Given the description of an element on the screen output the (x, y) to click on. 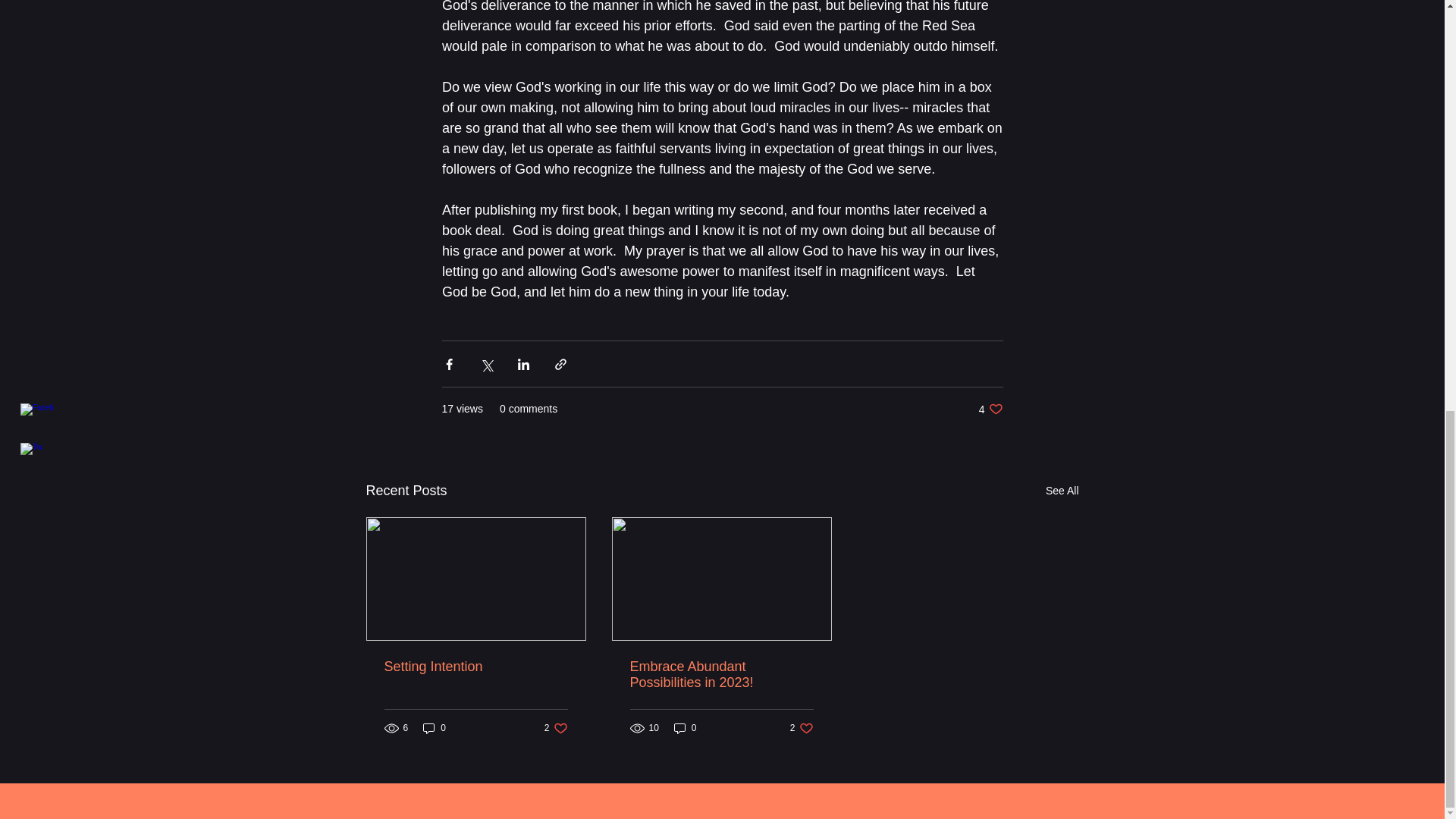
See All (1061, 490)
0 (685, 728)
0 (434, 728)
Embrace Abundant Possibilities in 2023! (801, 728)
Setting Intention (720, 675)
